Given the description of an element on the screen output the (x, y) to click on. 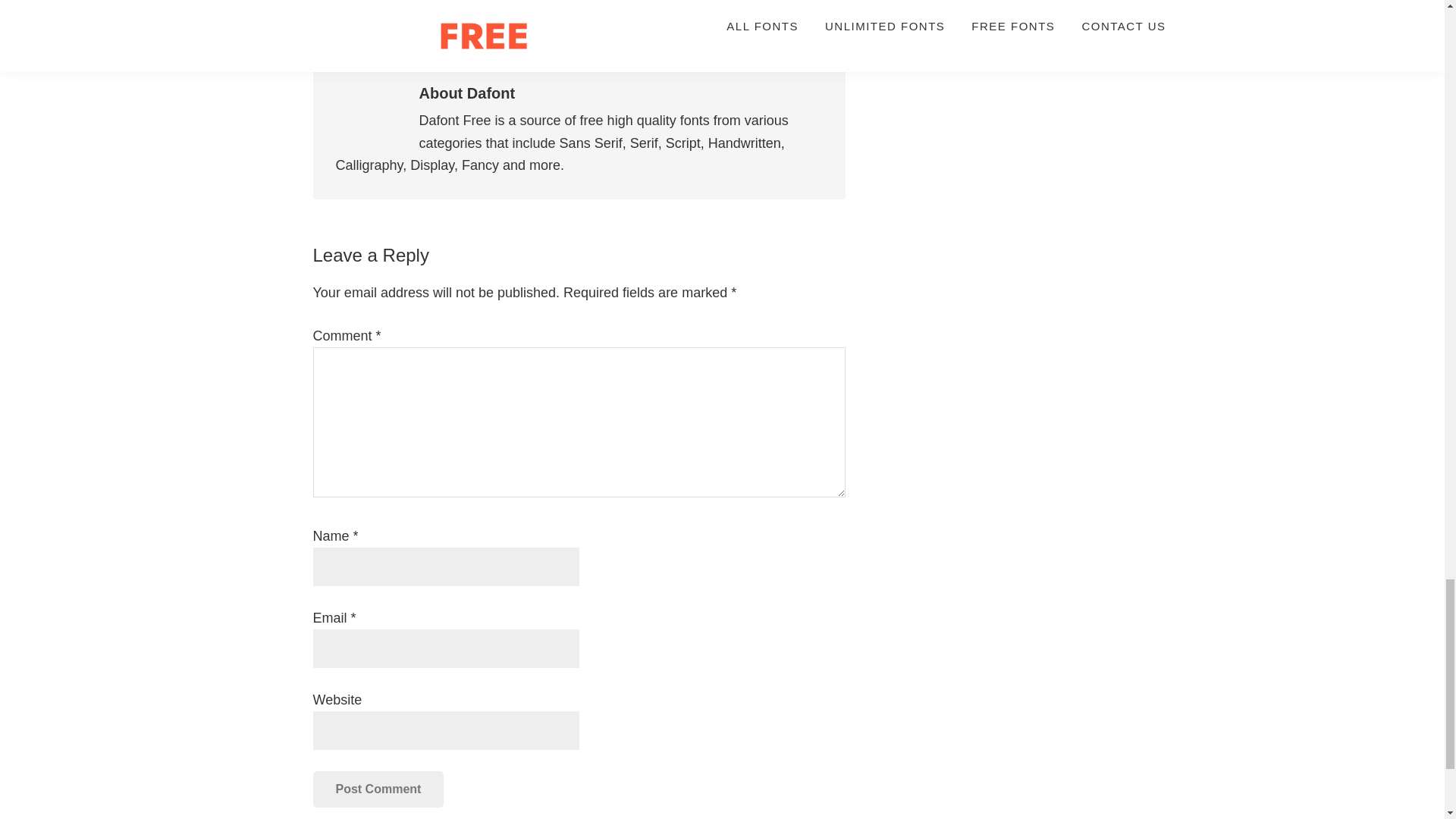
Calligraphy (411, 28)
Post Comment (378, 789)
Post Comment (378, 789)
